Given the description of an element on the screen output the (x, y) to click on. 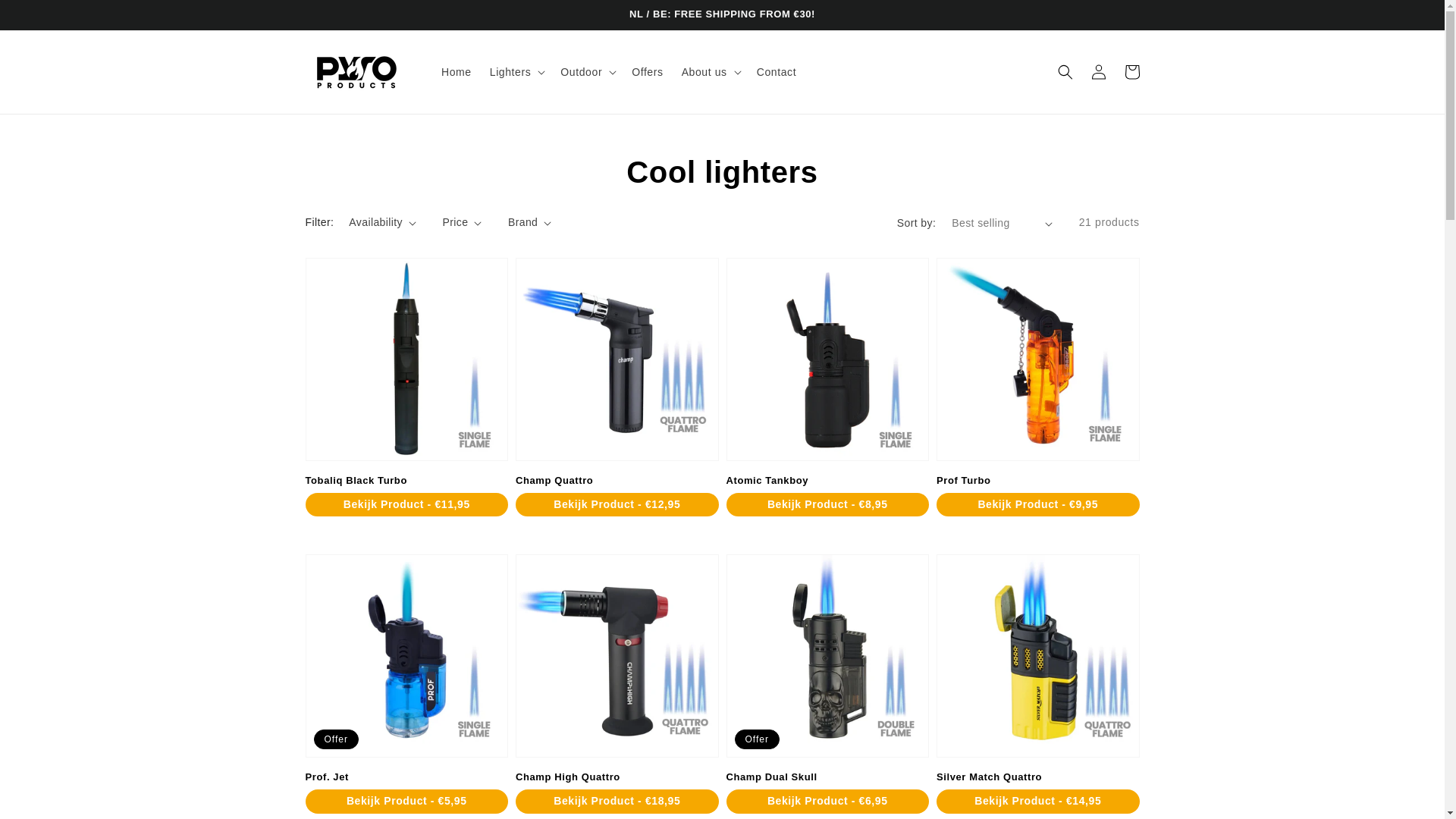
Straight to the content (45, 16)
Home (456, 71)
Lighters (510, 71)
